Given the description of an element on the screen output the (x, y) to click on. 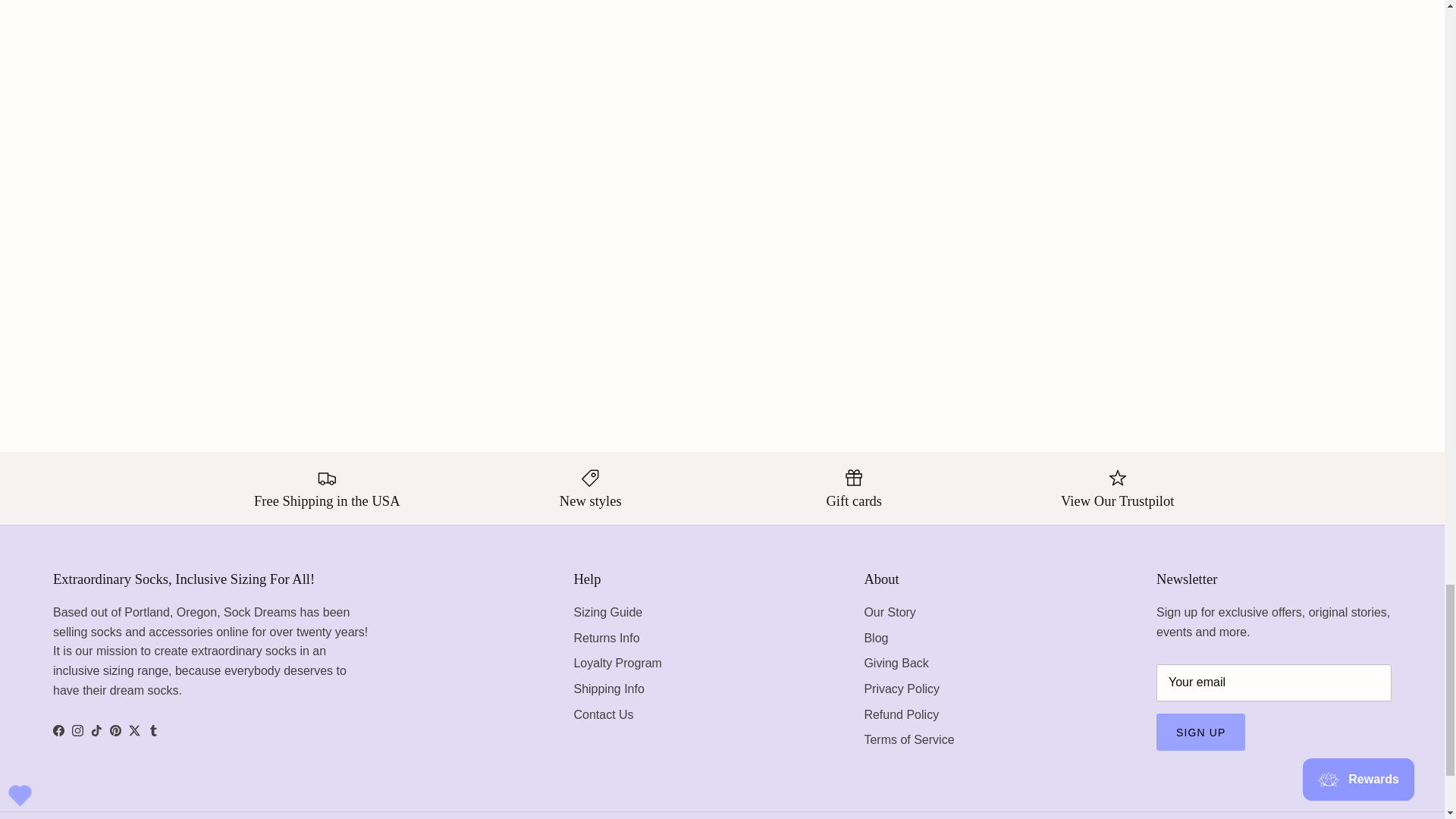
Sock Dreams on Facebook (58, 730)
Sock Dreams on Twitter (134, 730)
Sock Dreams on Instagram (76, 730)
Sock Dreams on TikTok (95, 730)
Sock Dreams on Pinterest (115, 730)
